Given the description of an element on the screen output the (x, y) to click on. 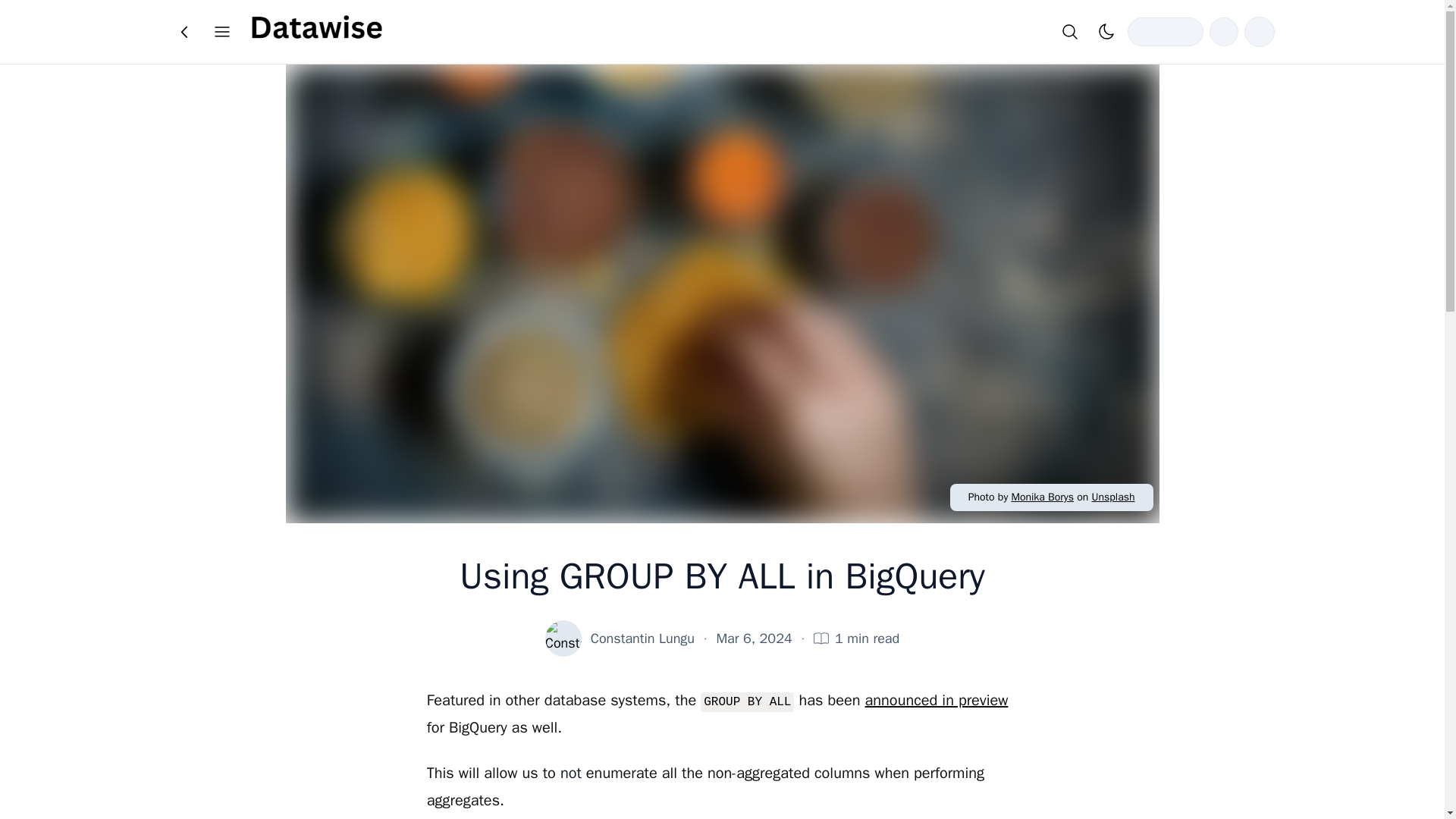
Mar 6, 2024 (754, 638)
Monika Borys (1042, 496)
Unsplash (1112, 496)
announced in preview (936, 700)
Constantin Lungu (642, 638)
